Given the description of an element on the screen output the (x, y) to click on. 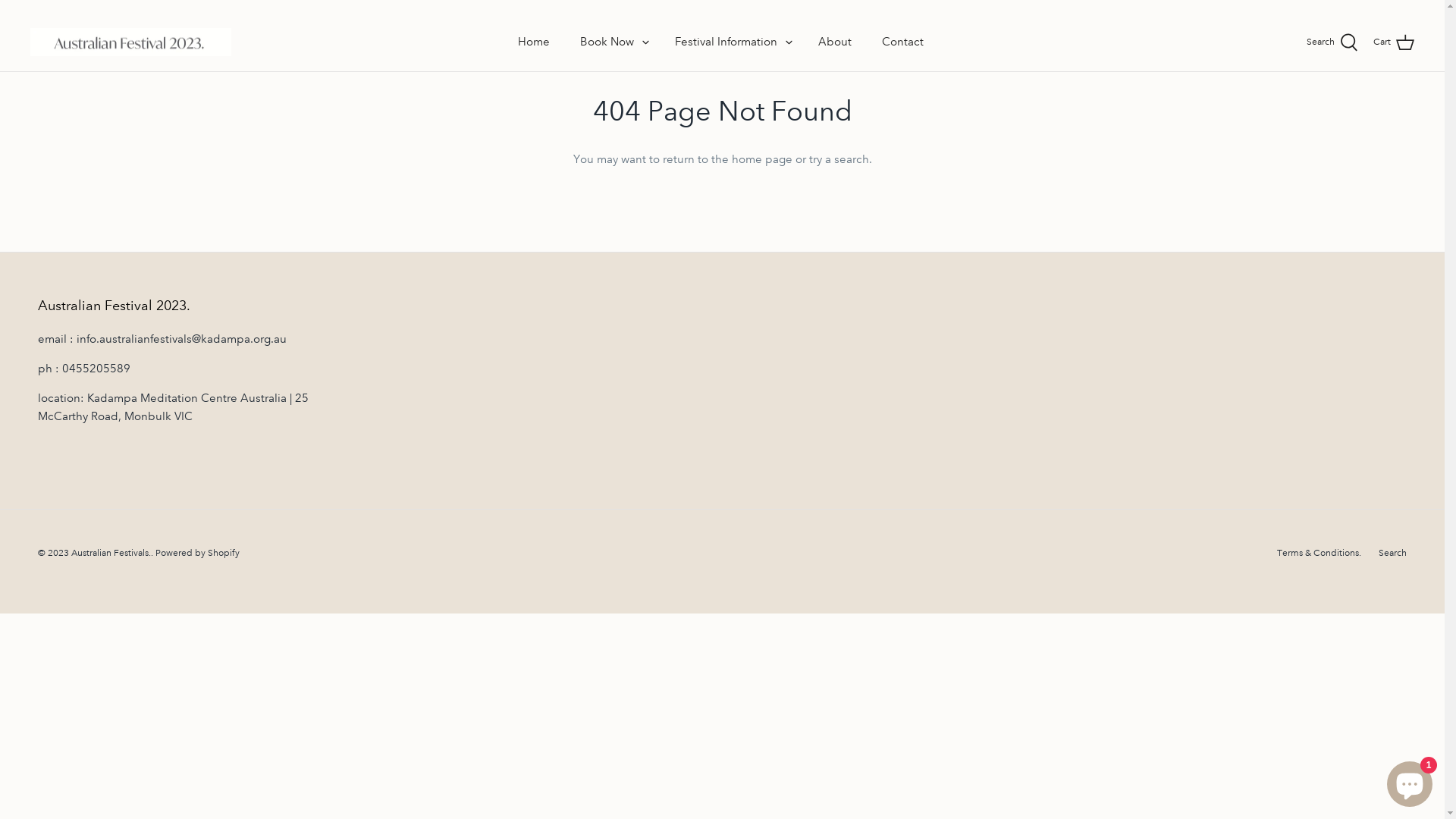
Cart Element type: text (1393, 41)
Australian Festivals. Element type: text (110, 552)
Shopify online store chat Element type: hover (1409, 780)
Festival Information Element type: text (725, 41)
home page Element type: text (761, 159)
Australian Festivals. Element type: hover (130, 42)
Home Element type: text (533, 41)
Search Element type: text (1392, 552)
Powered by Shopify Element type: text (197, 552)
try a search Element type: text (838, 159)
Contact Element type: text (902, 41)
Book Now Element type: text (606, 41)
Search Element type: text (1332, 41)
About Element type: text (834, 41)
Terms & Conditions. Element type: text (1319, 552)
